Given the description of an element on the screen output the (x, y) to click on. 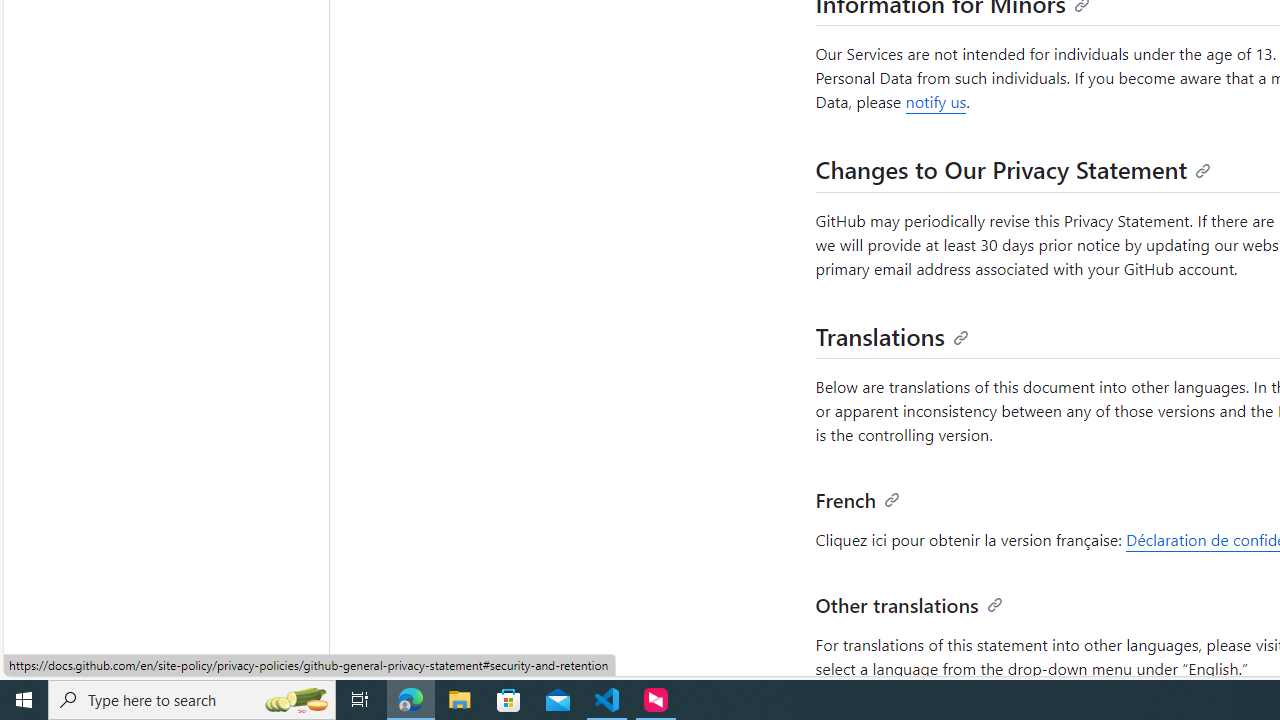
notify us (935, 101)
Other translations (909, 603)
French (858, 498)
Translations (891, 335)
Changes to Our Privacy Statement (1013, 168)
